Given the description of an element on the screen output the (x, y) to click on. 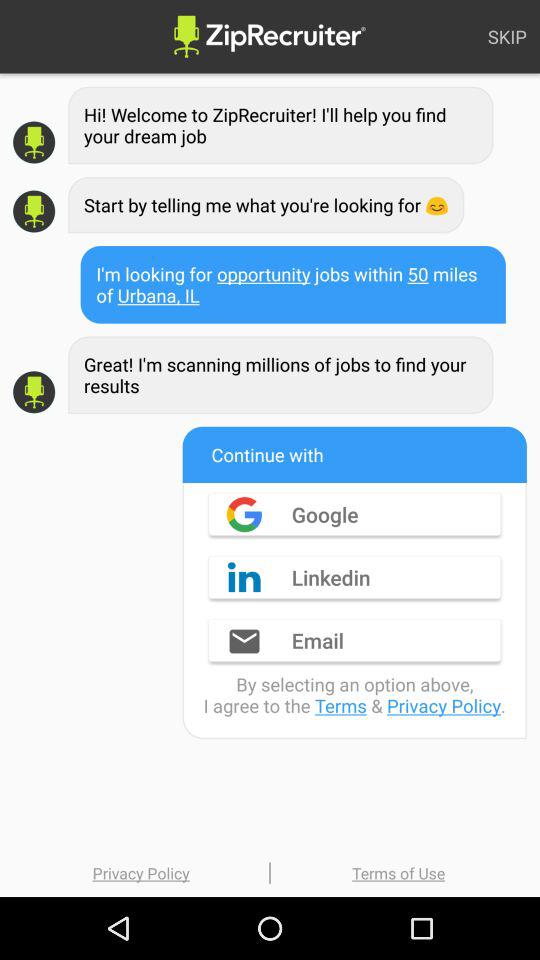
scroll to by selecting an (354, 694)
